Given the description of an element on the screen output the (x, y) to click on. 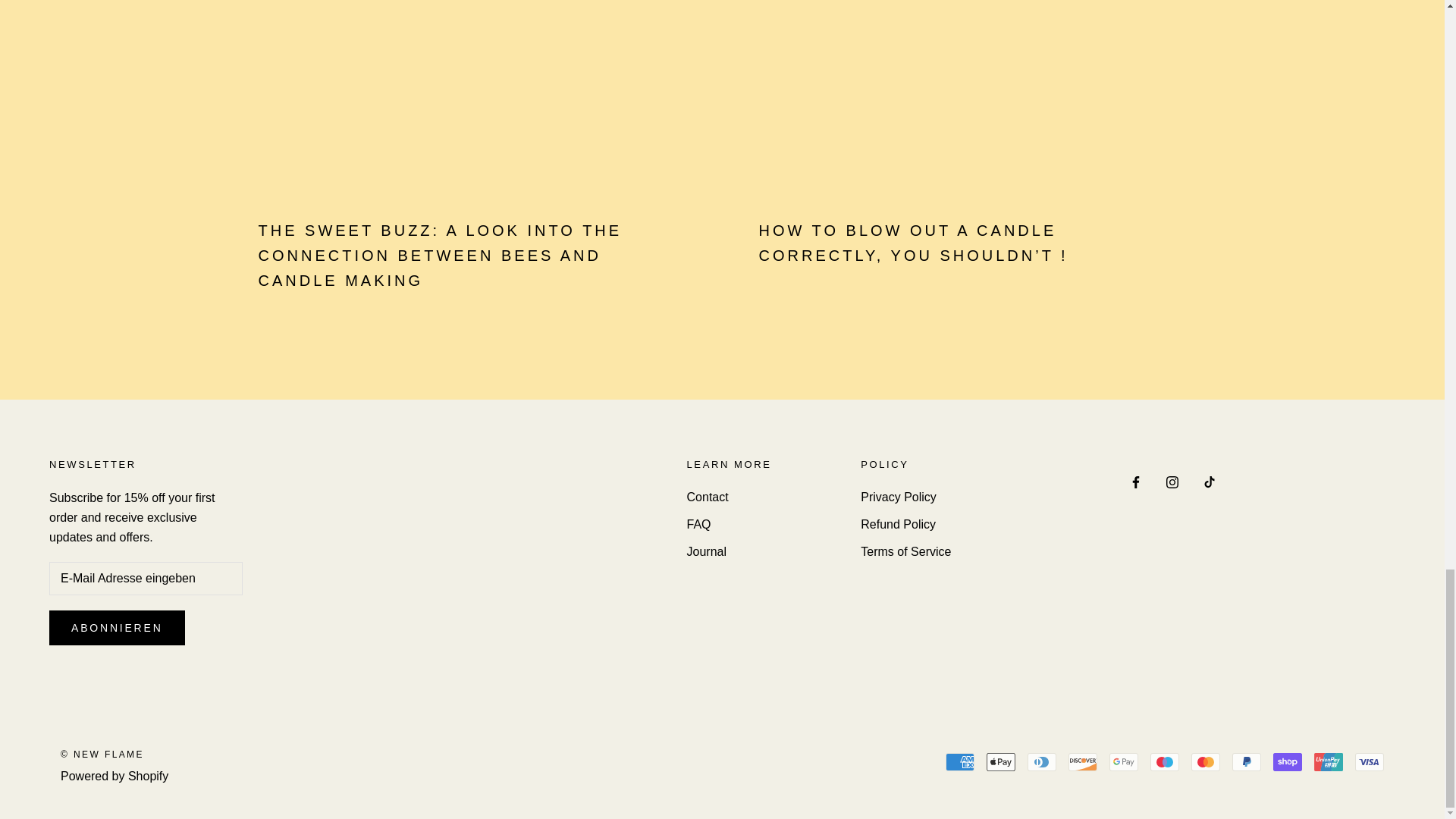
Visa (1369, 761)
Shop Pay (1286, 761)
Maestro (1164, 761)
Union Pay (1328, 761)
Google Pay (1123, 761)
American Express (959, 761)
Mastercard (1205, 761)
Diners Club (1042, 761)
PayPal (1245, 761)
Apple Pay (1000, 761)
Discover (1082, 761)
